Given the description of an element on the screen output the (x, y) to click on. 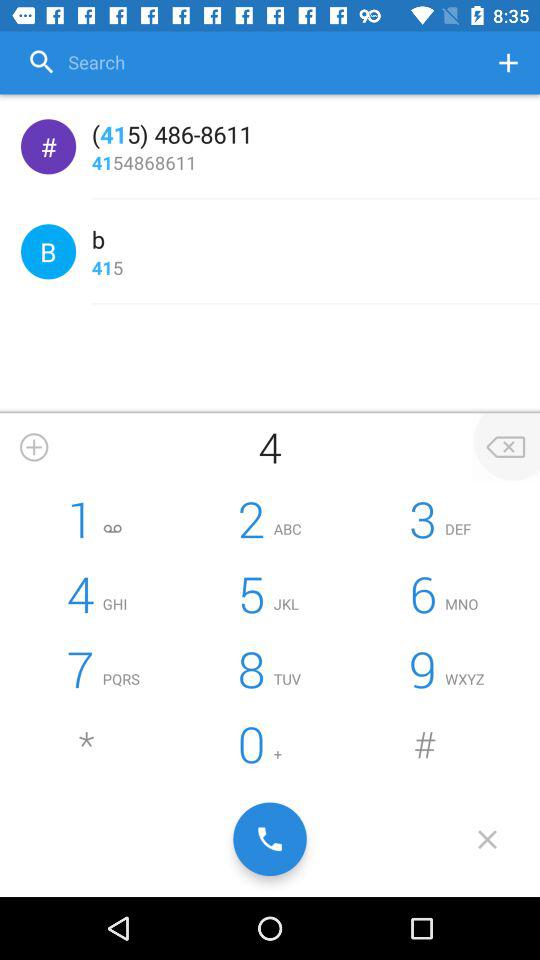
add contact (34, 447)
